Given the description of an element on the screen output the (x, y) to click on. 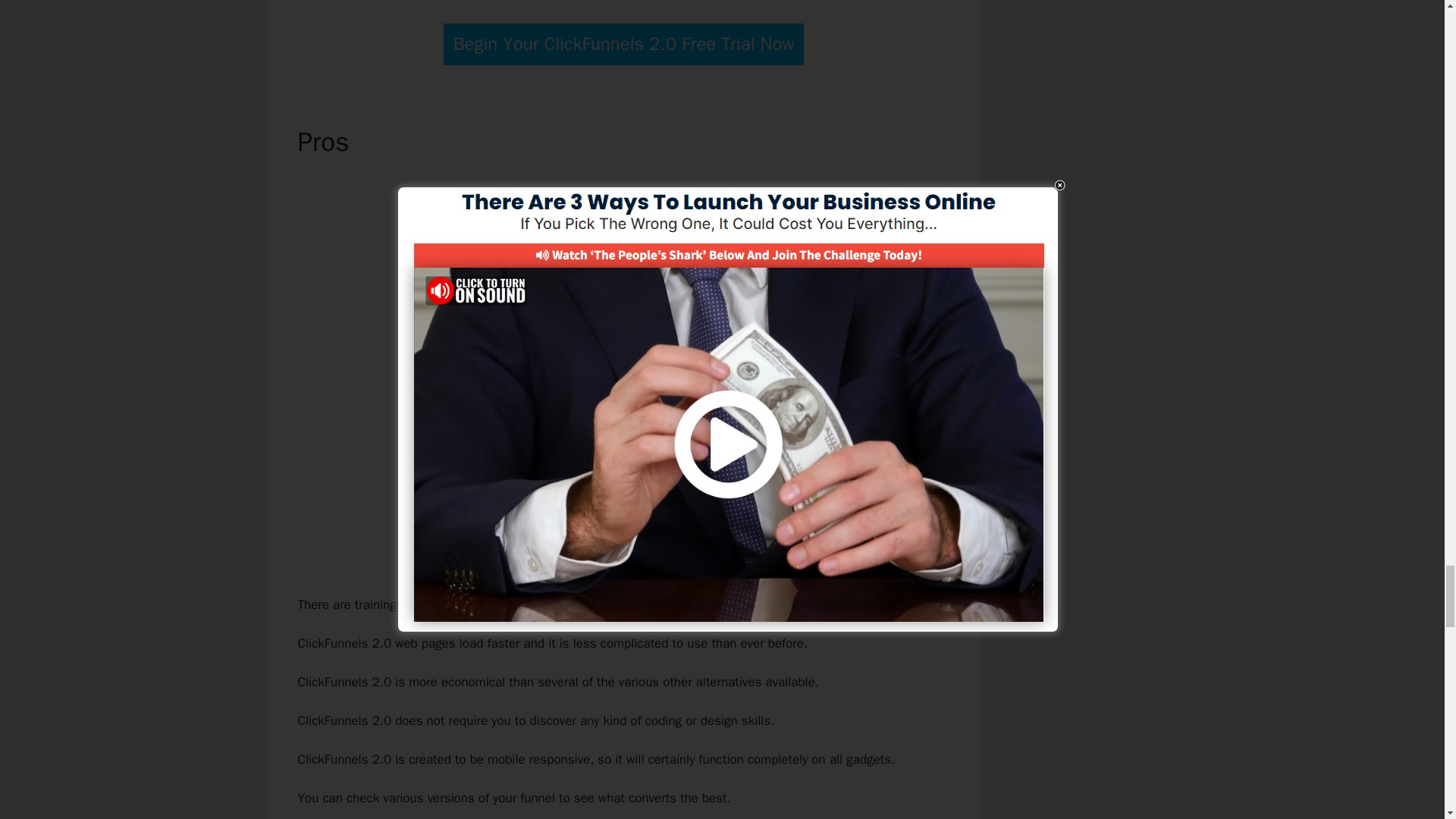
Begin Your ClickFunnels 2.0 Free Trial Now (624, 44)
